Given the description of an element on the screen output the (x, y) to click on. 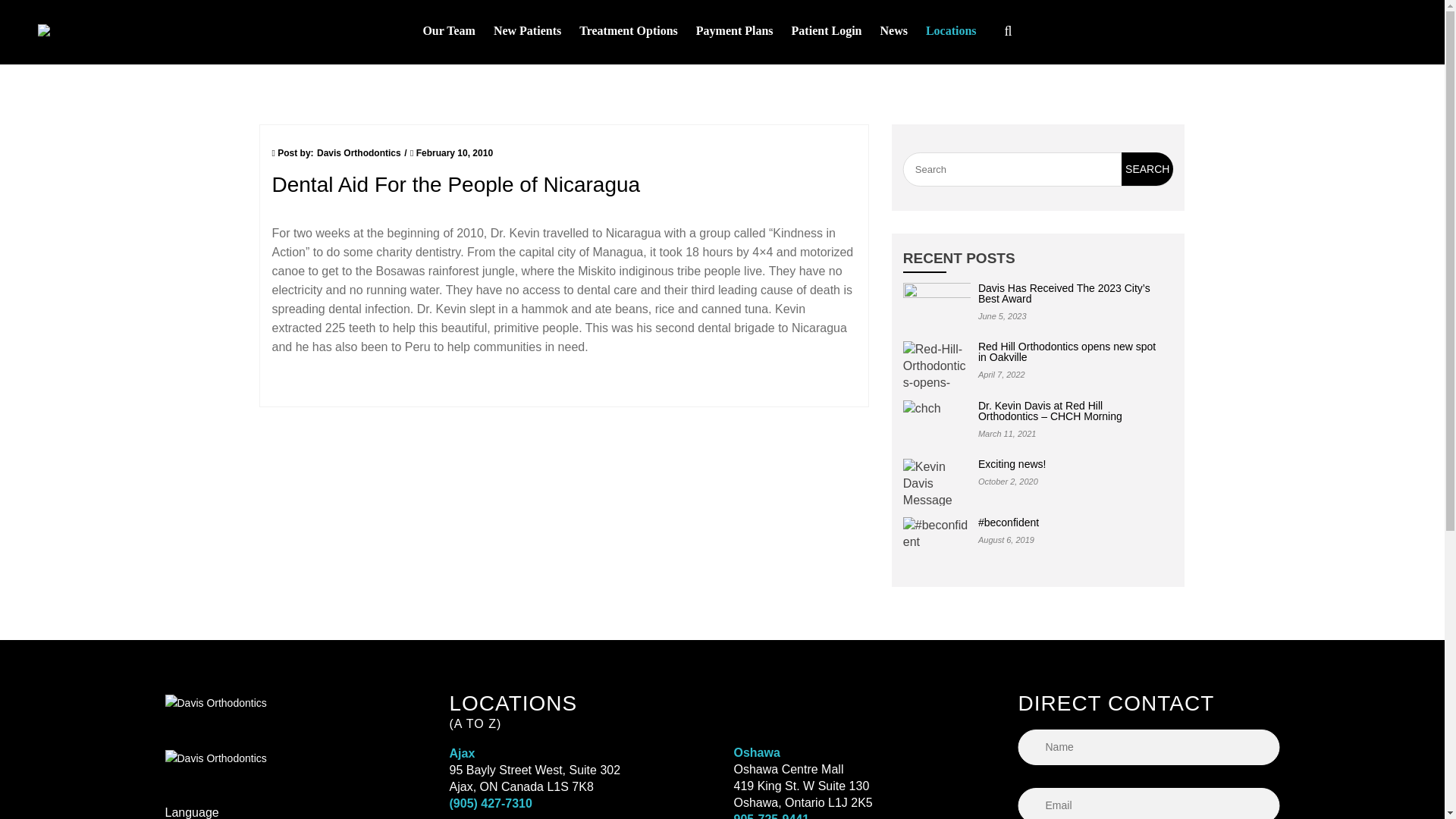
Davis Orthodontics (94, 31)
Posts by Davis Orthodontics (359, 153)
Search (1147, 168)
